Given the description of an element on the screen output the (x, y) to click on. 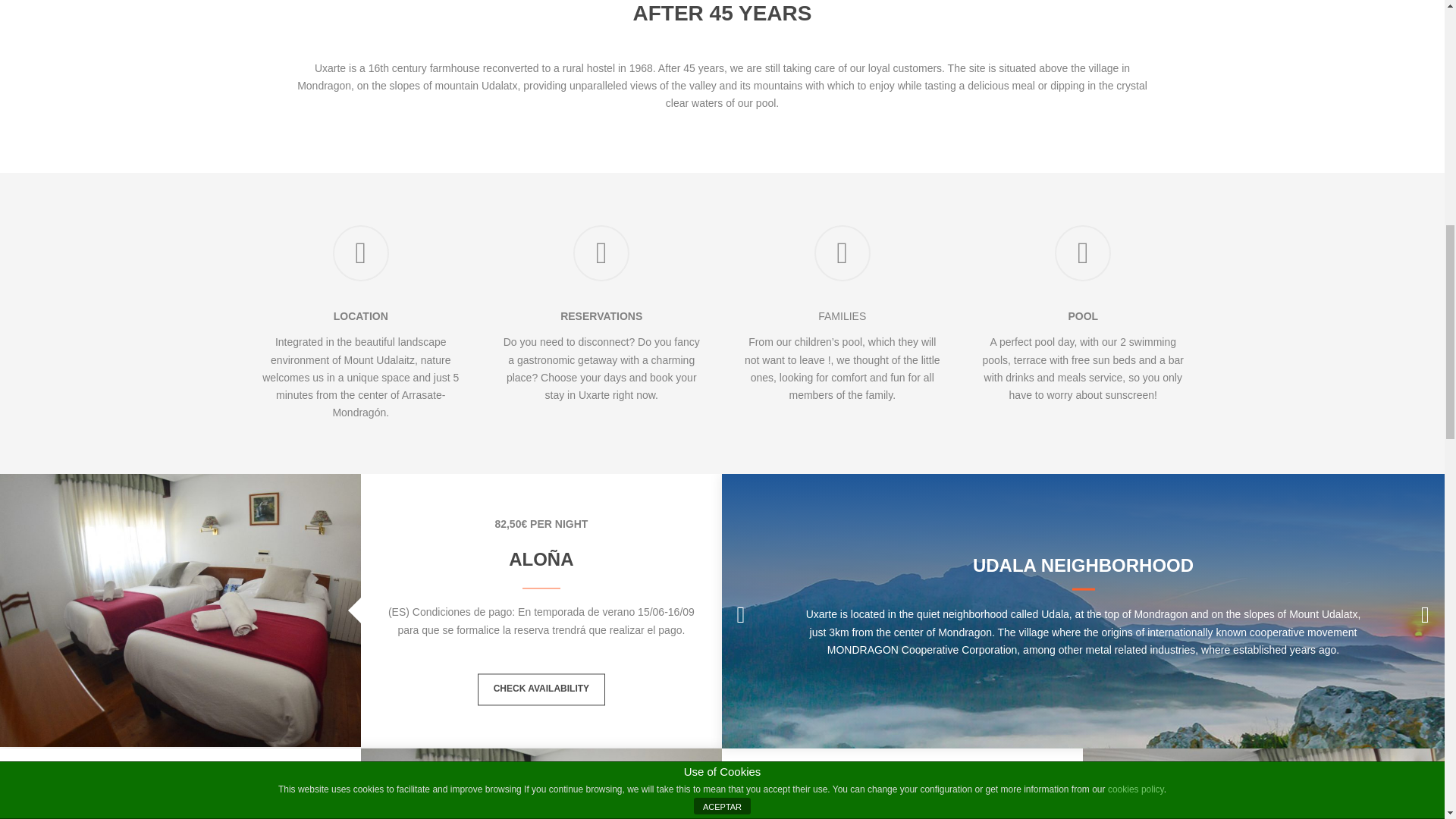
CHECK AVAILABILITY (541, 689)
